Given the description of an element on the screen output the (x, y) to click on. 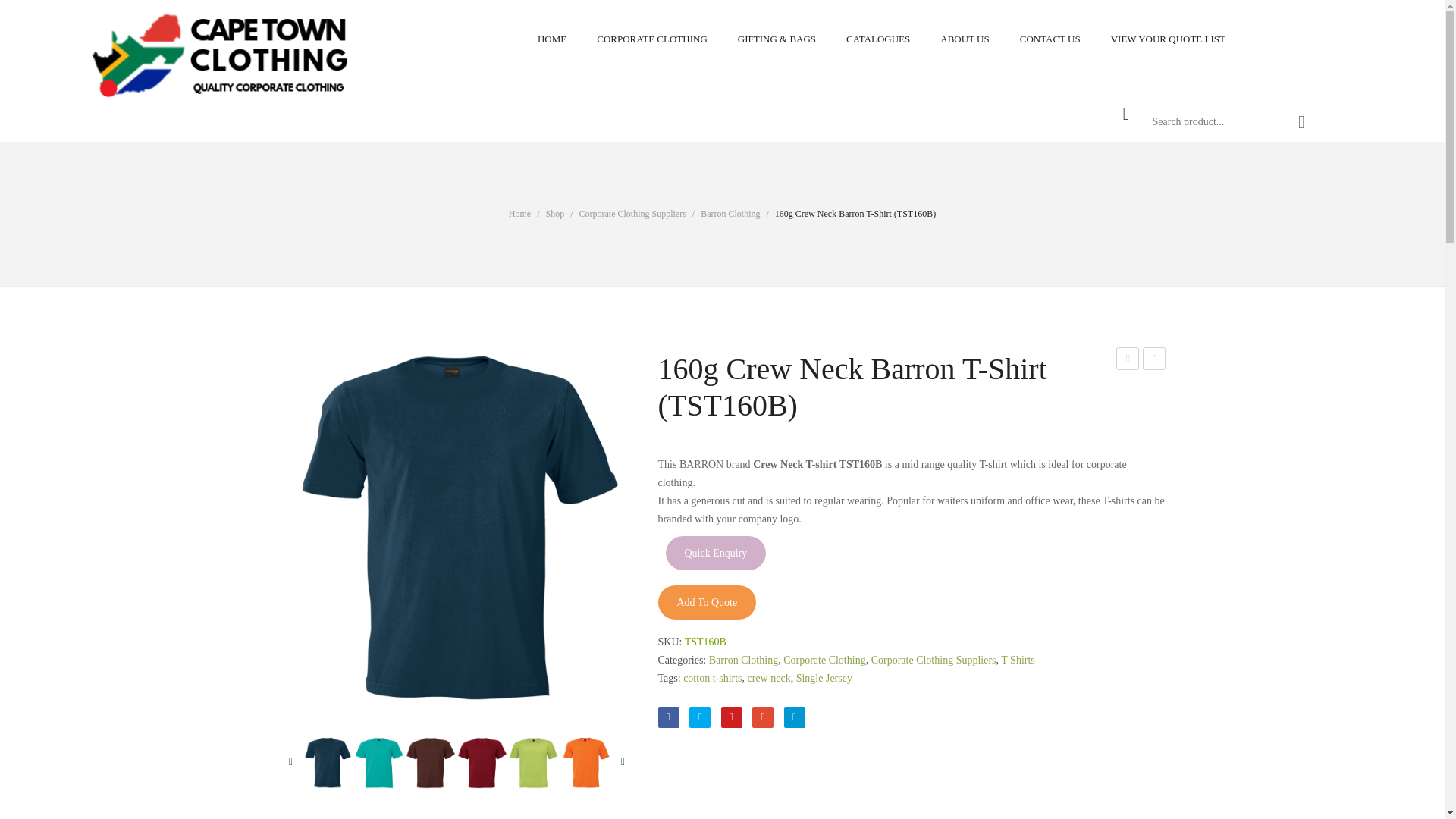
Corporate Clothing (651, 38)
CORPORATE CLOTHING (651, 38)
Corporate Clothing Suppliers (877, 38)
Quick Enquiry (716, 553)
9-Petrol (456, 529)
9-DustyAqua (378, 762)
9-Petrol (327, 762)
CATALOGUES (877, 38)
